Given the description of an element on the screen output the (x, y) to click on. 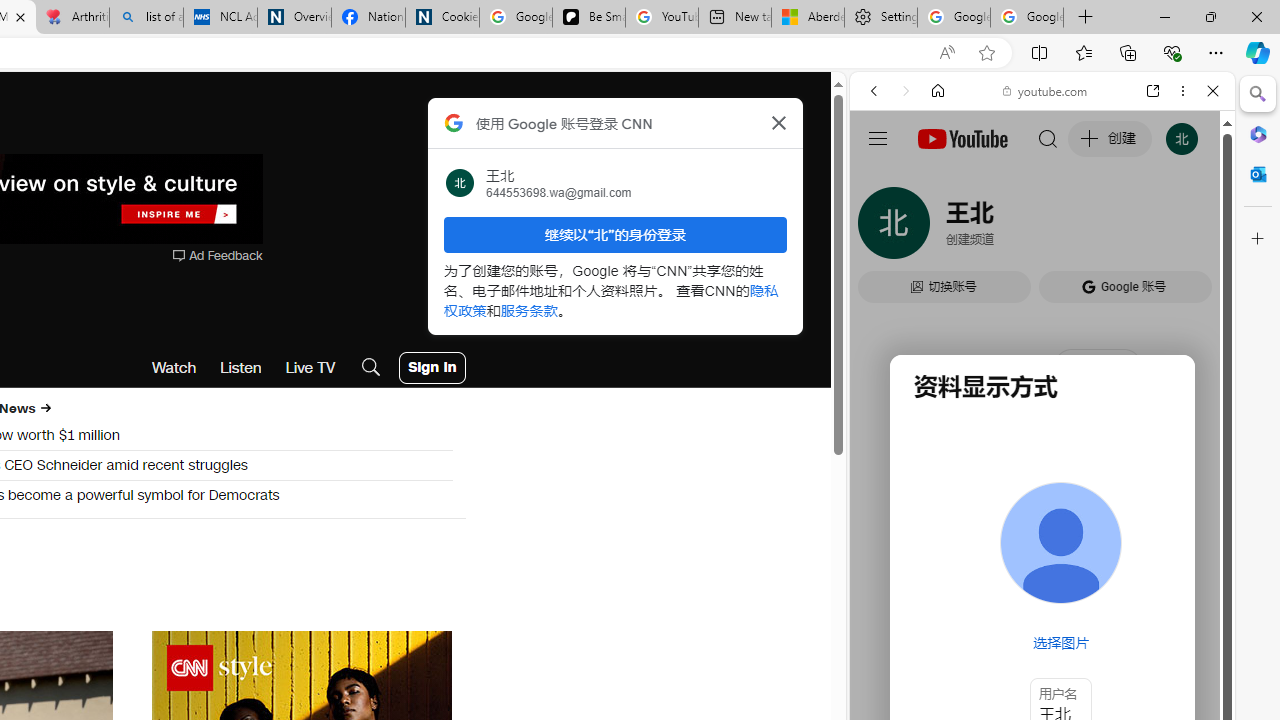
User Account Log In Button (432, 367)
Search the web (1051, 137)
Google (947, 584)
Search Icon (371, 367)
Class: right-arrow (45, 408)
